Given the description of an element on the screen output the (x, y) to click on. 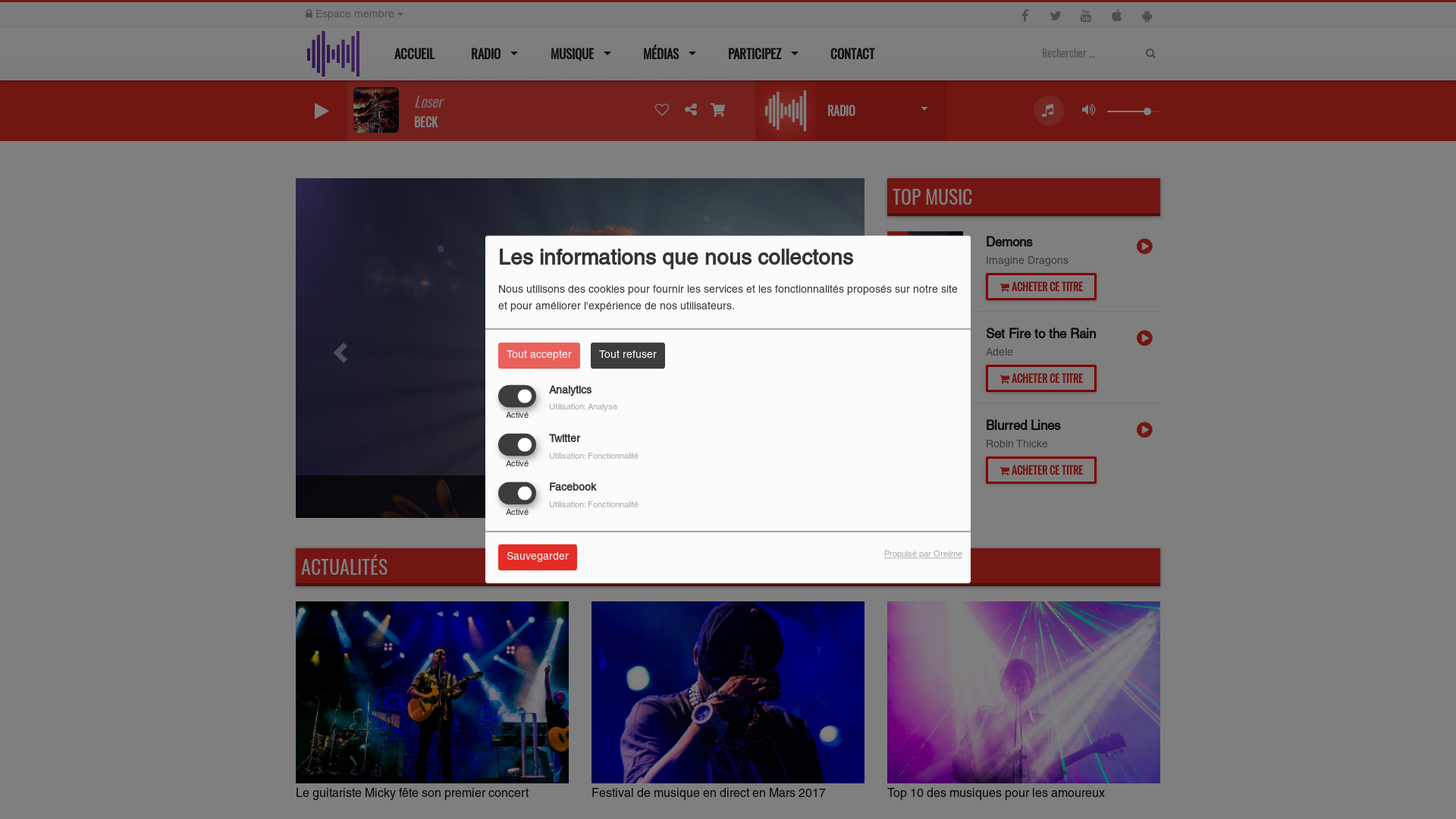
Sauvegarder Element type: text (537, 557)
PARTICIPEZ Element type: text (759, 53)
ACCUEIL Element type: text (412, 53)
Tout refuser Element type: text (627, 355)
Festival de musique en direct en Mars 2017 Element type: text (727, 700)
Top 10 des musiques pour les amoureux Element type: text (1023, 700)
CONTACT Element type: text (850, 53)
1 Element type: text (925, 269)
RADIO Element type: text (490, 53)
3 Element type: text (925, 452)
MUSIQUE Element type: text (575, 53)
ACHETER CE TITRE Element type: text (1040, 378)
ACHETER CE TITRE Element type: text (1040, 286)
Tout accepter Element type: text (539, 355)
ACHETER CE TITRE Element type: text (1040, 469)
2 Element type: text (925, 360)
Espace membre Element type: text (354, 15)
